Given the description of an element on the screen output the (x, y) to click on. 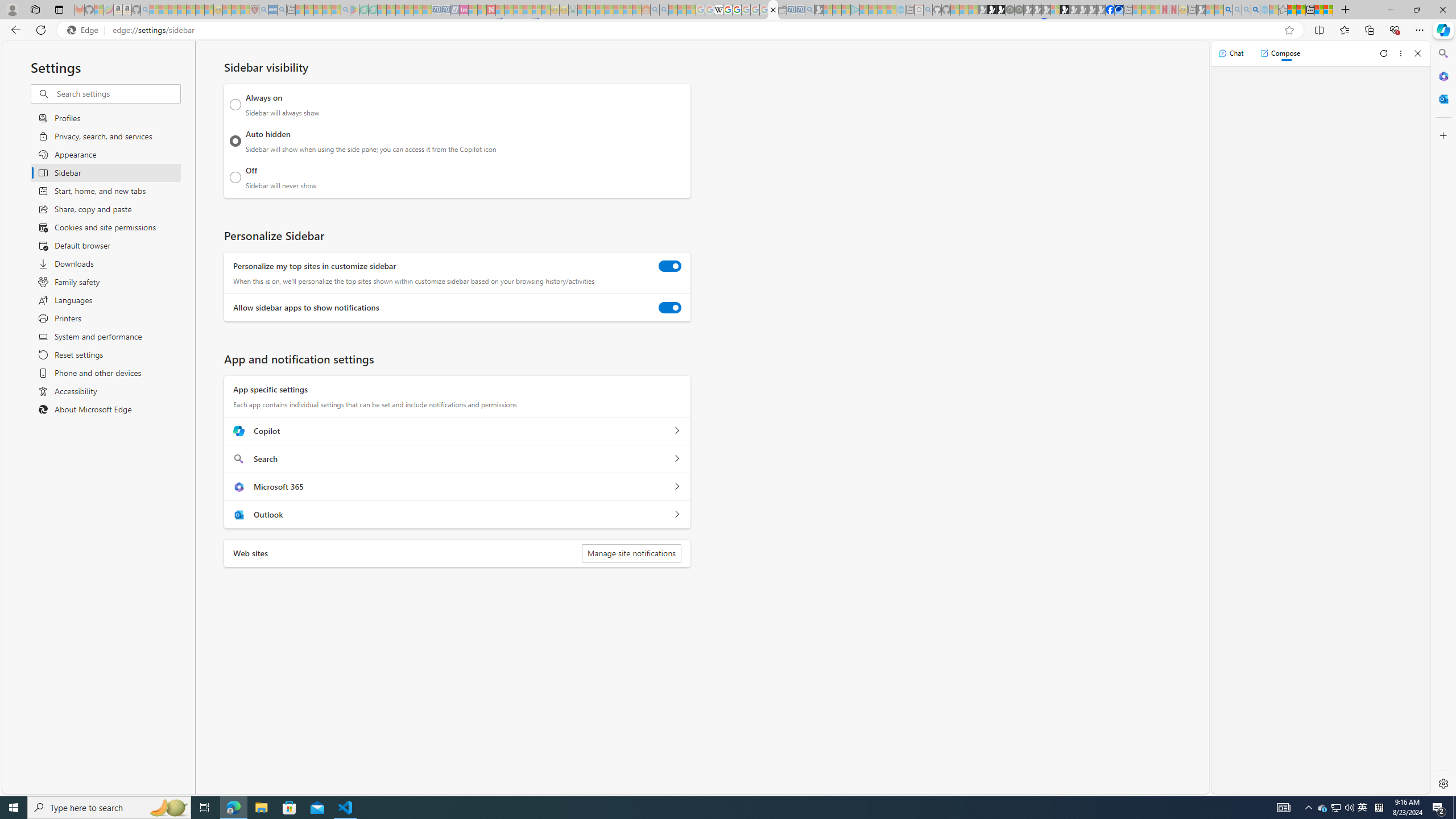
Local - MSN - Sleeping (244, 9)
